Given the description of an element on the screen output the (x, y) to click on. 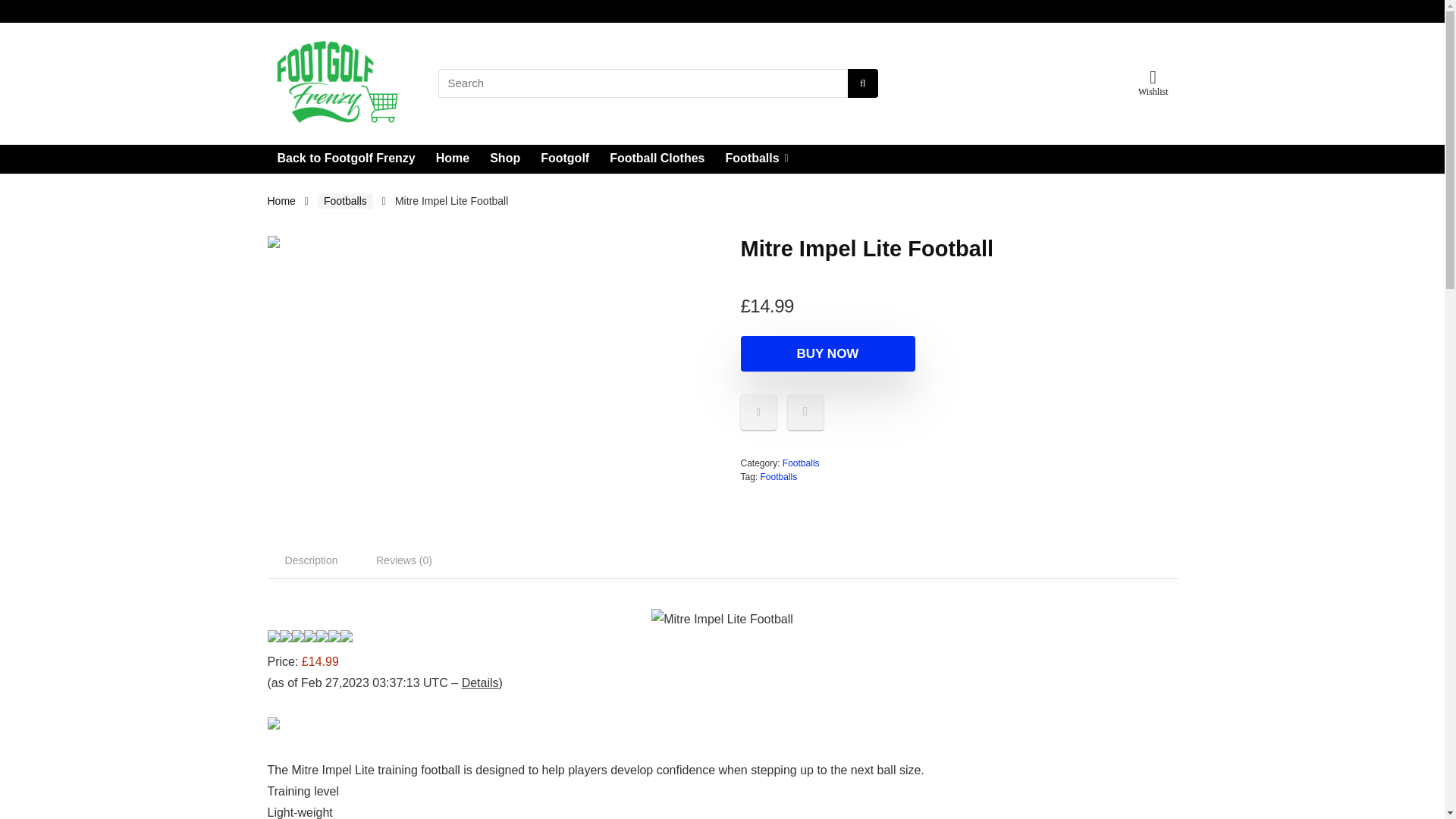
Shop (504, 158)
Footgolf (564, 158)
Footballs (344, 201)
BUY NOW (826, 353)
Description (310, 560)
Football Clothes (656, 158)
Mitre Impel Lite Football (721, 619)
Mitre Impel Lite Football (484, 241)
Footballs (801, 462)
Back to Footgolf Frenzy (345, 158)
